Given the description of an element on the screen output the (x, y) to click on. 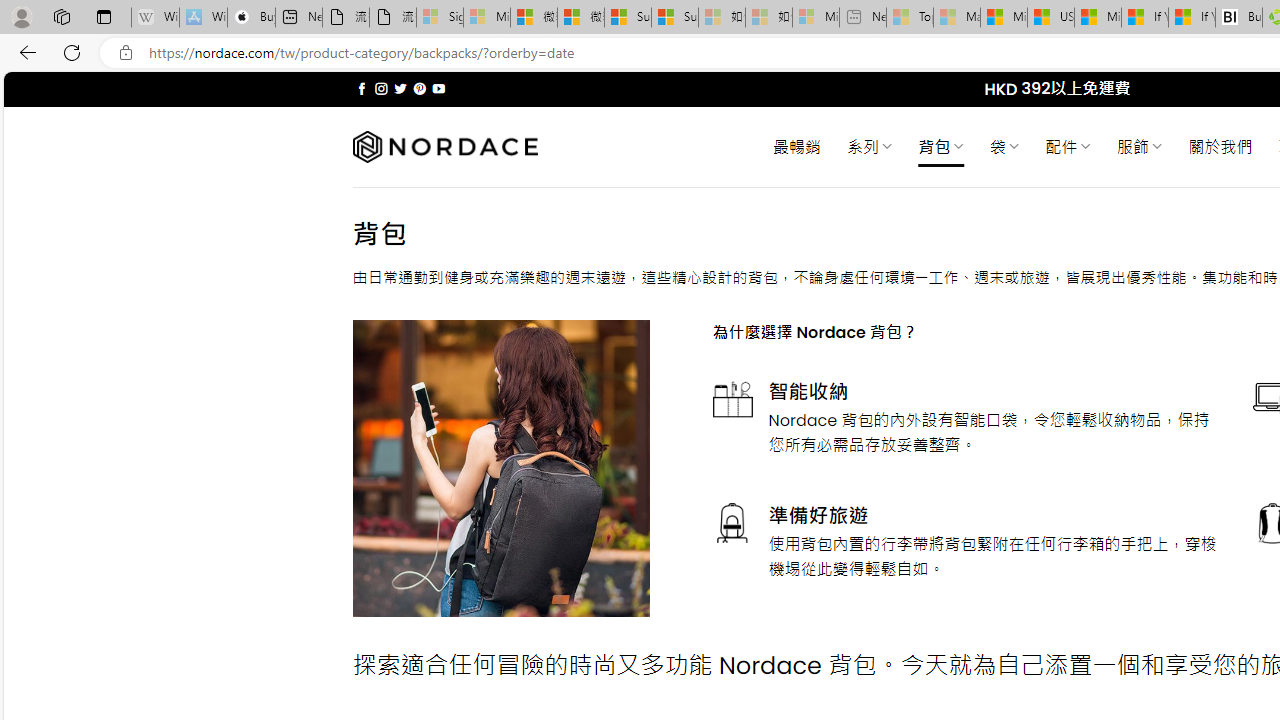
Top Stories - MSN - Sleeping (910, 17)
Wikipedia - Sleeping (155, 17)
US Heat Deaths Soared To Record High Last Year (1050, 17)
Follow on Facebook (361, 88)
Sign in to your Microsoft account - Sleeping (440, 17)
Follow on Pinterest (419, 88)
Buy iPad - Apple (251, 17)
